Given the description of an element on the screen output the (x, y) to click on. 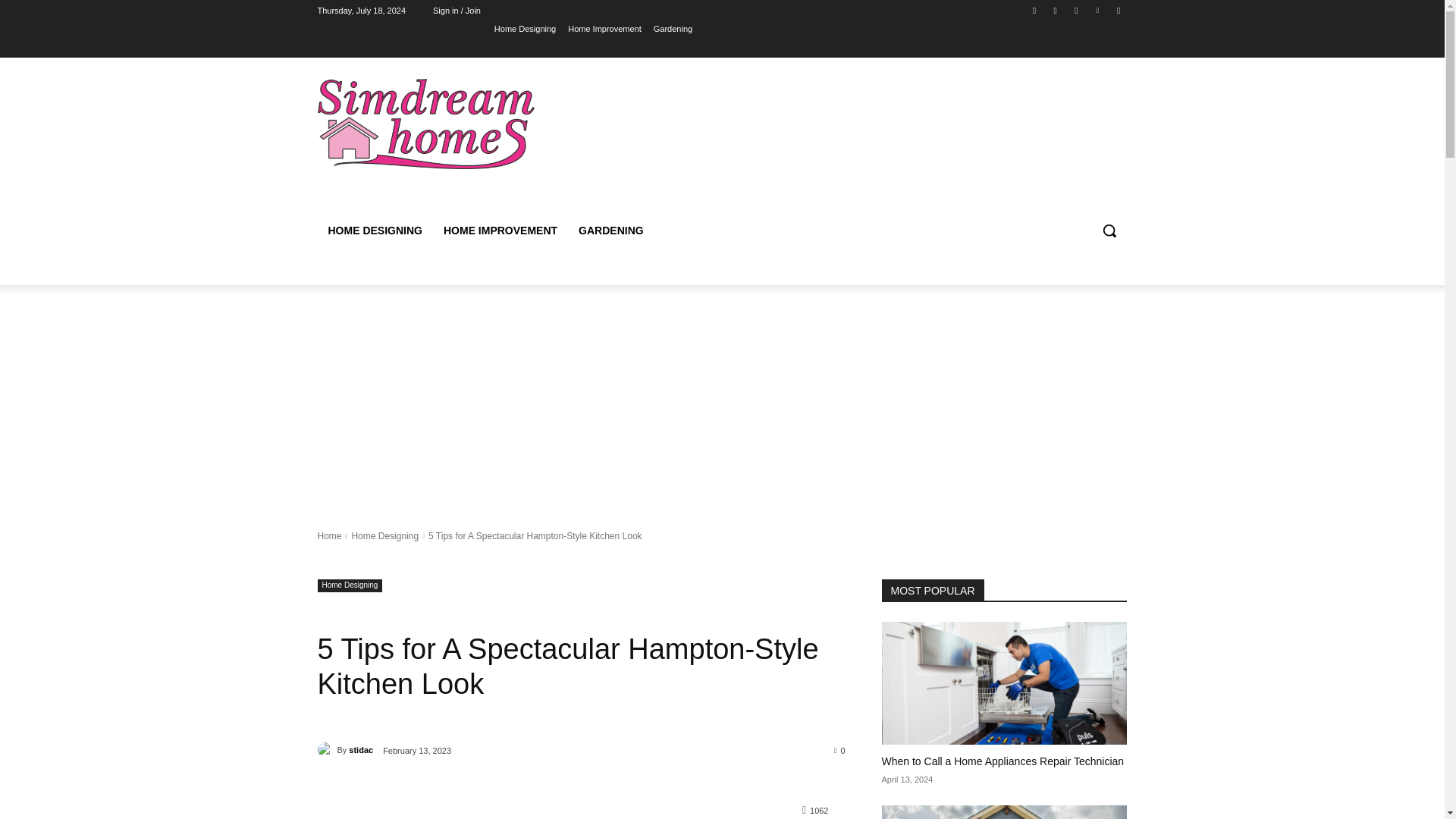
View all posts in Home Designing (384, 535)
stidac (326, 749)
Gardening (673, 28)
Youtube (1117, 9)
Home Designing (349, 585)
HOME IMPROVEMENT (499, 230)
Instagram (1055, 9)
0 (839, 749)
Home Designing (384, 535)
HOME DESIGNING (374, 230)
Vimeo (1097, 9)
Home (328, 535)
GARDENING (610, 230)
stidac (360, 749)
